Given the description of an element on the screen output the (x, y) to click on. 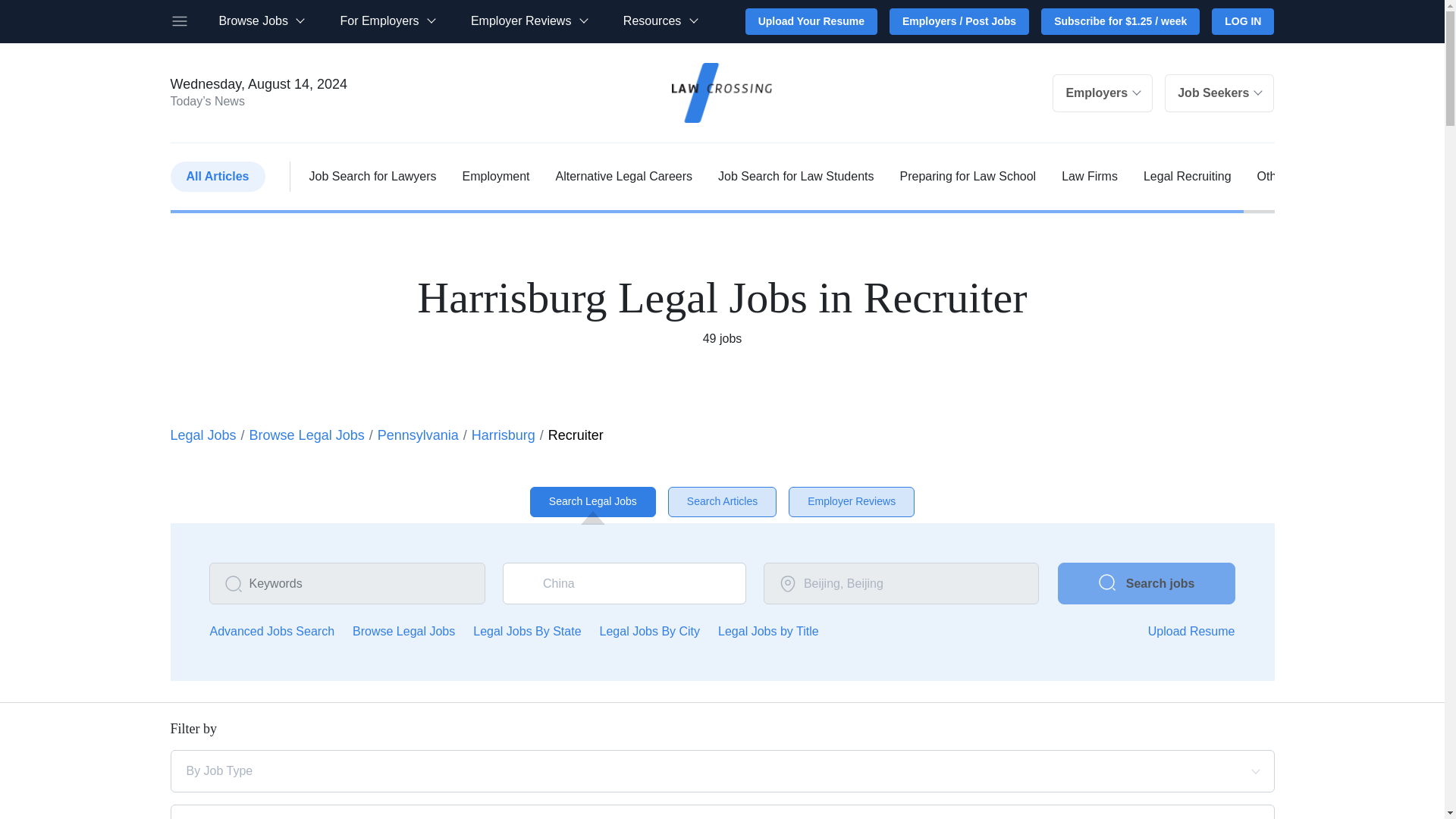
Resources (660, 20)
Upload Your Resume (811, 22)
LOG IN (1242, 22)
For Employers (386, 20)
Beijing, Beijing (900, 583)
Browse Jobs (260, 20)
By Job Type (668, 771)
Employer Reviews (528, 20)
Employers (1102, 93)
Job Seekers (1219, 93)
